Given the description of an element on the screen output the (x, y) to click on. 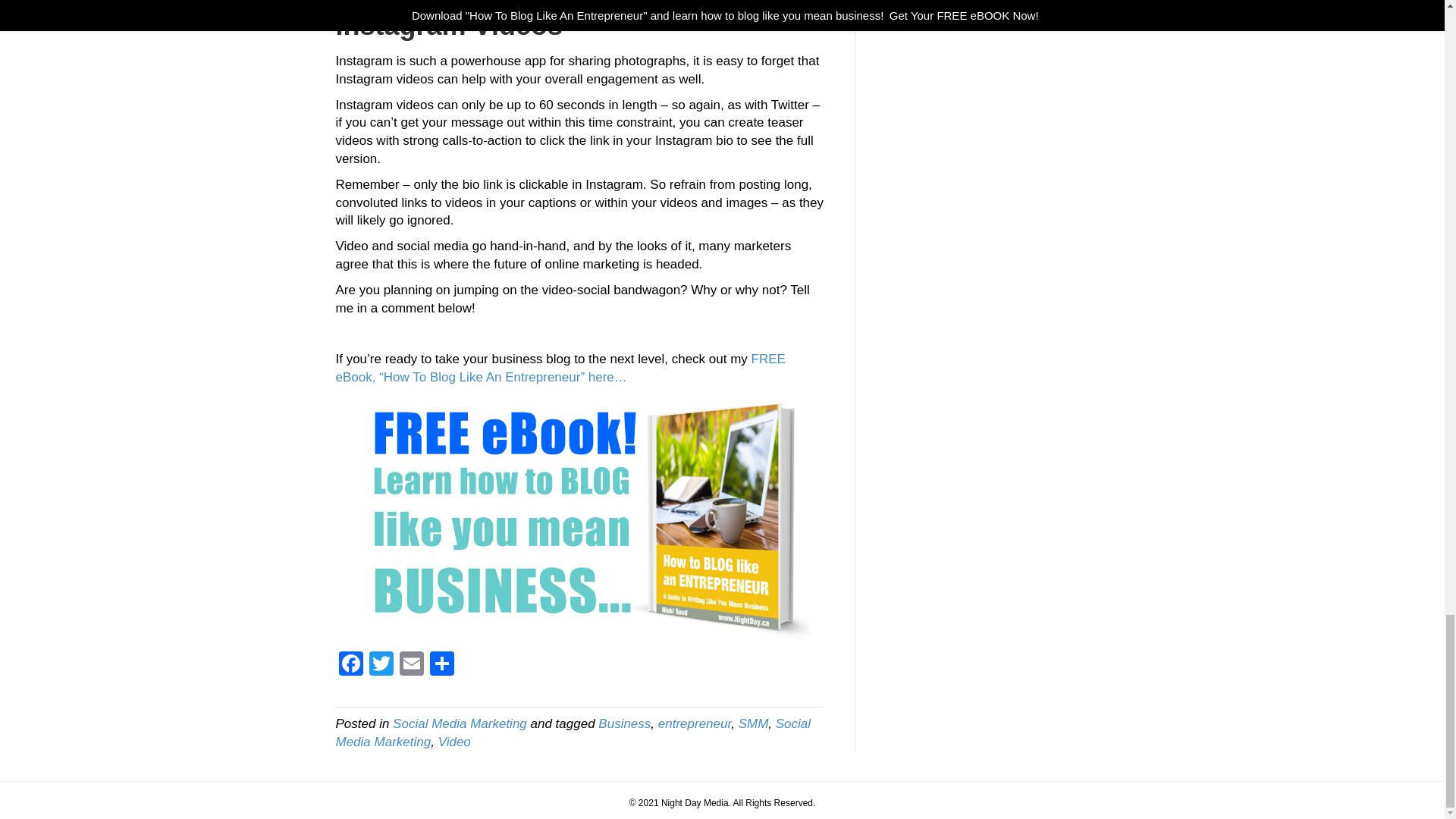
entrepreneur (694, 723)
Social Media Marketing (572, 732)
Social Media Marketing (460, 723)
Email (411, 665)
Facebook (349, 665)
Share (441, 665)
Business (624, 723)
Facebook (349, 665)
Twitter (380, 665)
SMM (753, 723)
Email (411, 665)
Video (454, 741)
Twitter (380, 665)
